Given the description of an element on the screen output the (x, y) to click on. 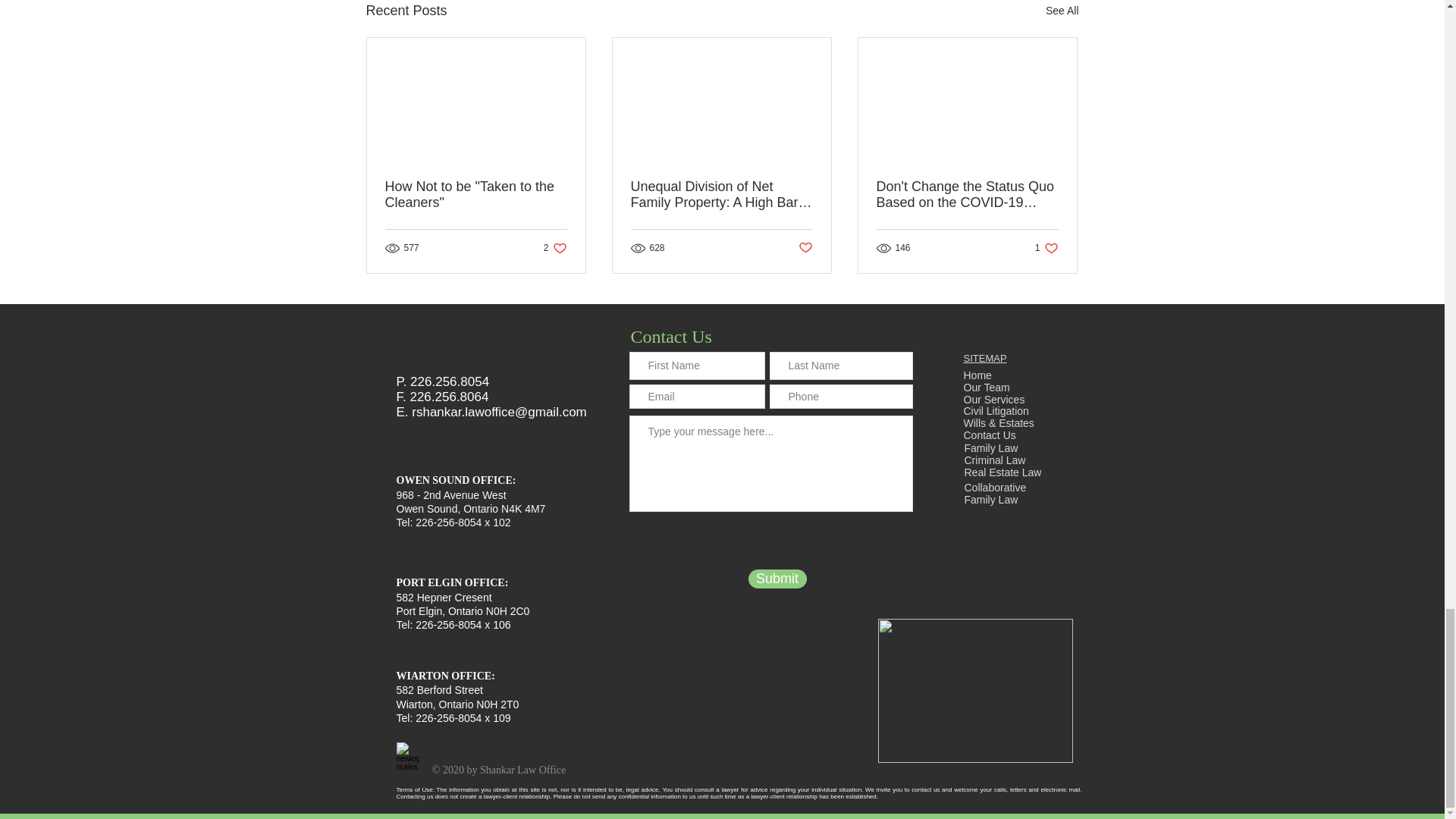
Office Photo.jpg (975, 690)
